Given the description of an element on the screen output the (x, y) to click on. 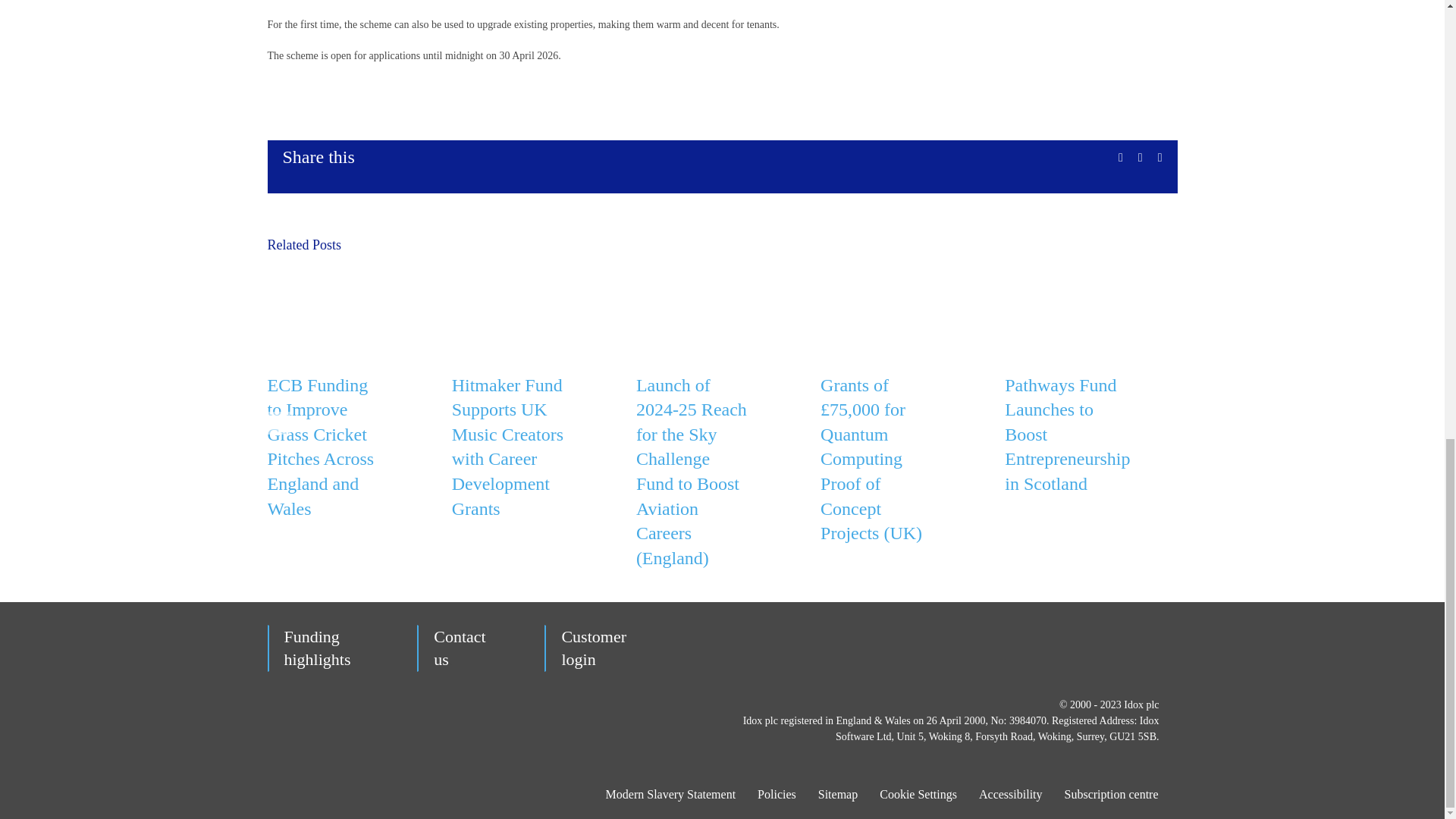
LinkedIn (1140, 157)
X (1120, 157)
Pathways Fund Launches to Boost Entrepreneurship in Scotland (1066, 434)
X (1120, 157)
Email (1159, 157)
Email (1159, 157)
LinkedIn (1140, 157)
